Given the description of an element on the screen output the (x, y) to click on. 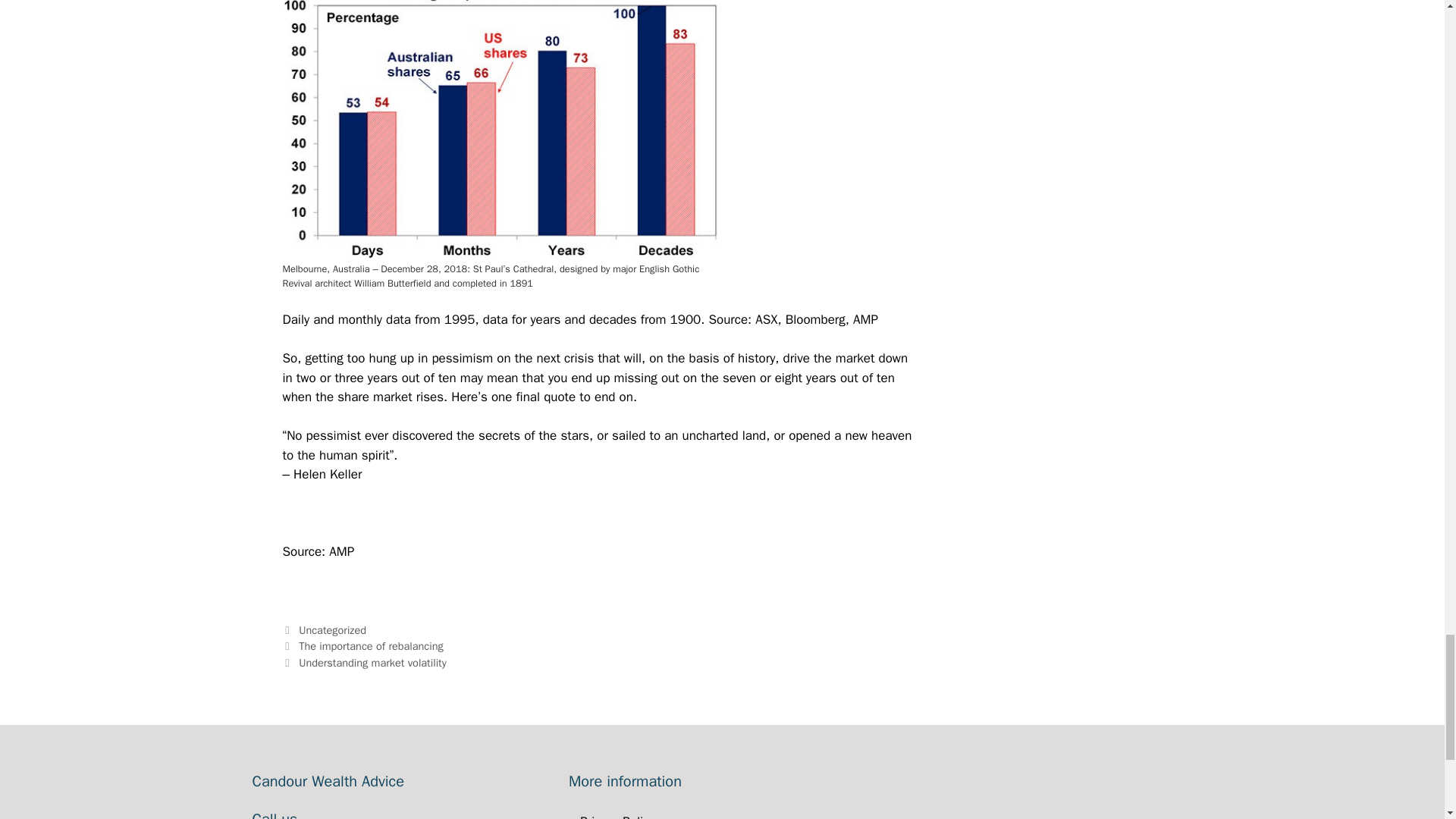
Understanding market volatility (372, 662)
Uncategorized (332, 630)
The importance of rebalancing (371, 645)
